Given the description of an element on the screen output the (x, y) to click on. 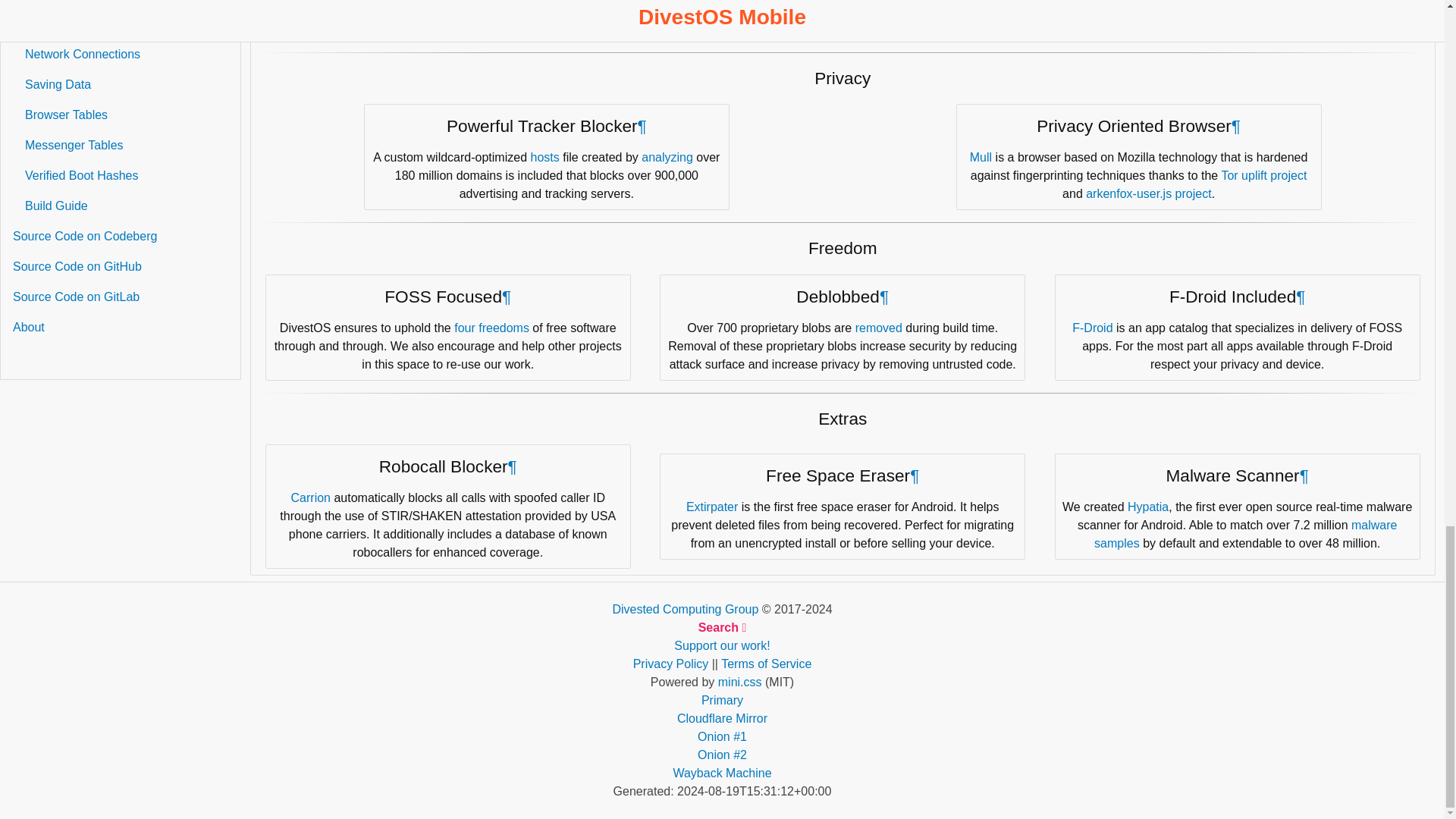
Source Code on GitLab (120, 296)
Saving Data (126, 84)
Source Code on Codeberg (120, 236)
Source Code on GitHub (120, 266)
Verified Boot Hashes (126, 175)
Browser Tables (126, 114)
About (120, 327)
Build Guide (126, 205)
Technical Details (126, 24)
Messenger Tables (126, 145)
